Given the description of an element on the screen output the (x, y) to click on. 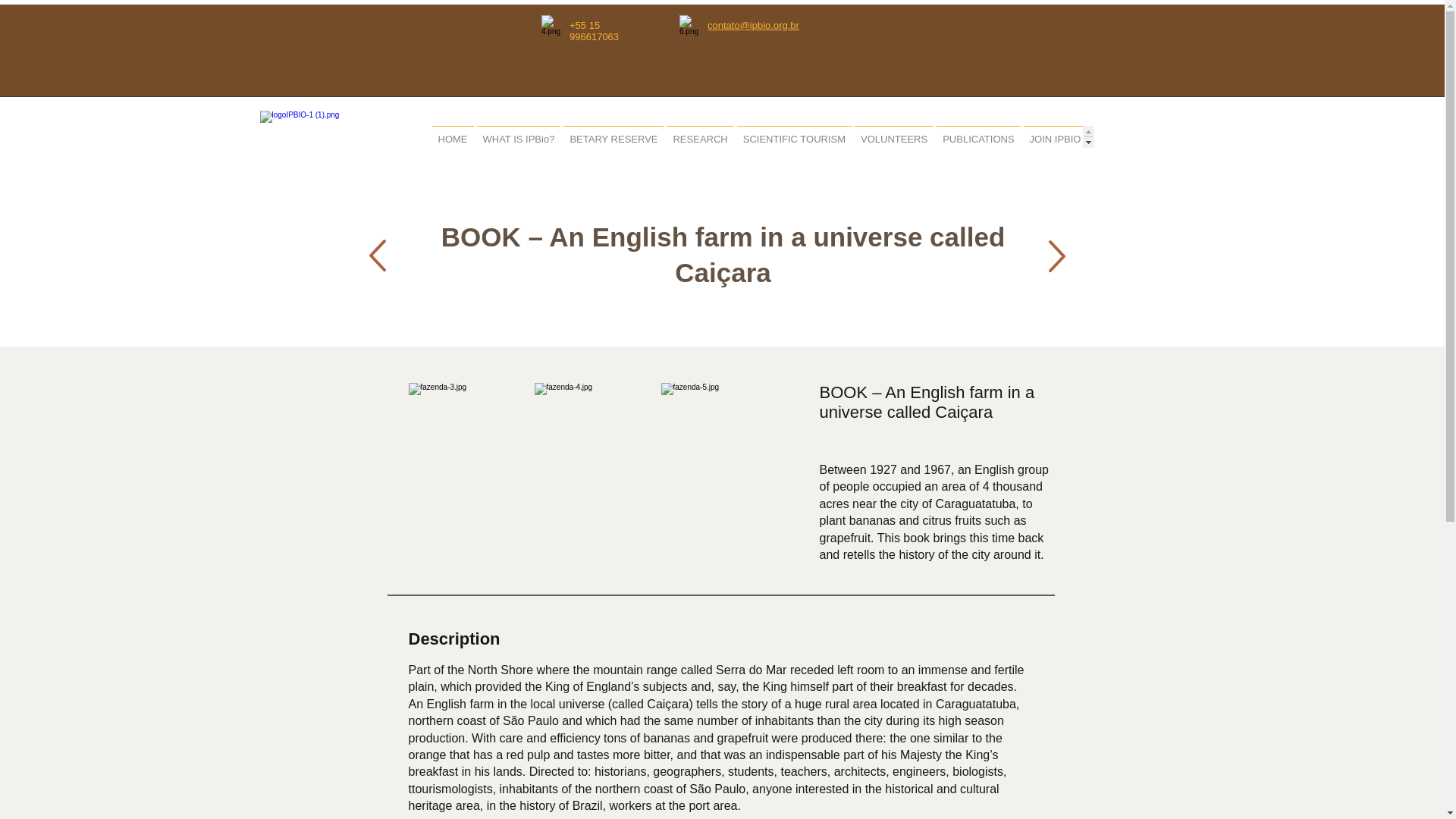
HOME (453, 136)
VOLUNTEERS (893, 136)
IN THE MEDIA (1128, 136)
JOIN IPBIO (1055, 136)
WHAT IS IPBio? (518, 136)
RESEARCH (700, 136)
SCIENTIFIC TOURISM (794, 136)
PUBLICATIONS (978, 136)
BETARY RESERVE (613, 136)
